Given the description of an element on the screen output the (x, y) to click on. 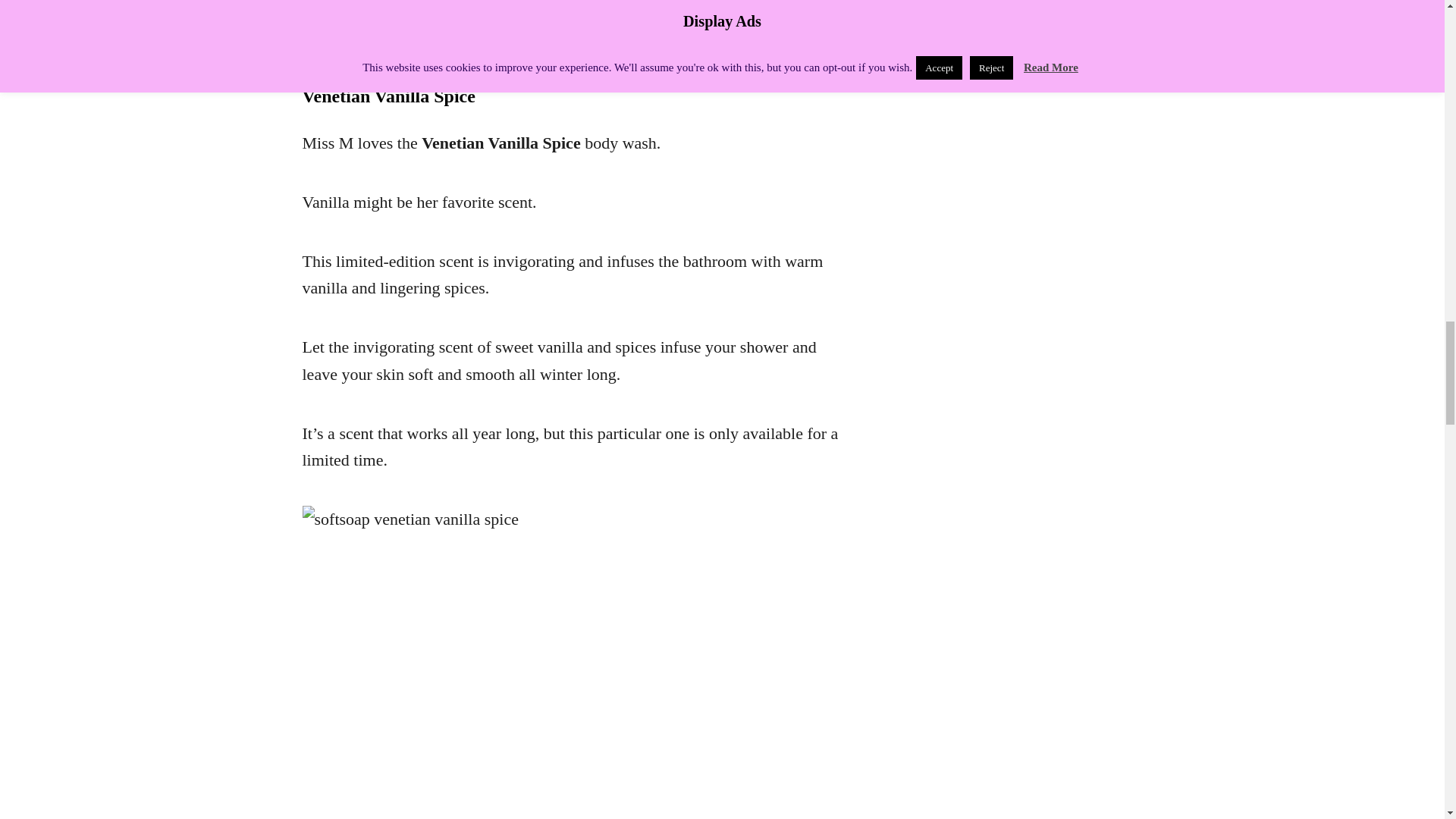
softsoap alpine mint frost (529, 8)
Pin Me! (309, 35)
